Given the description of an element on the screen output the (x, y) to click on. 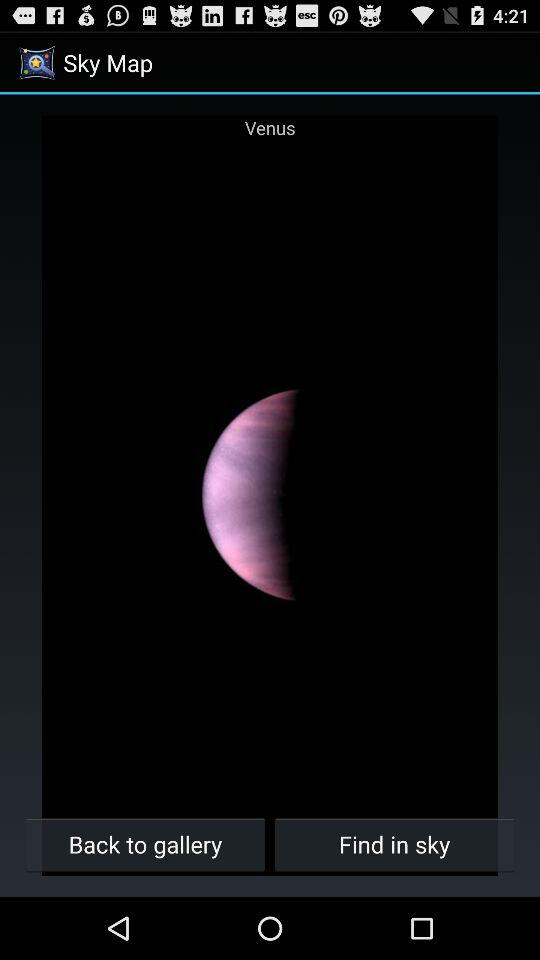
press button to the right of back to gallery (394, 844)
